Given the description of an element on the screen output the (x, y) to click on. 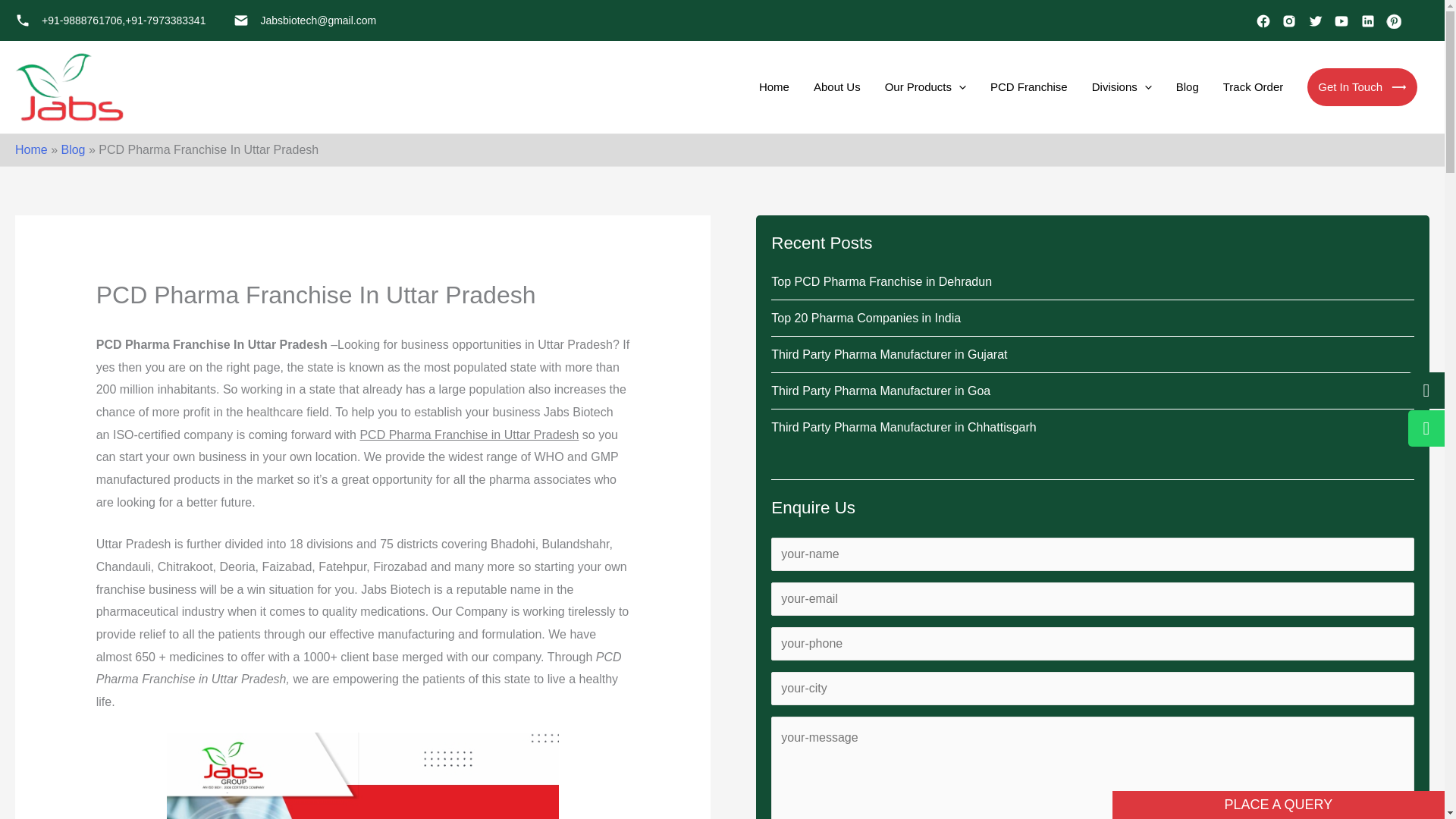
Our Products (925, 86)
Divisions (1121, 86)
Track Order (1252, 86)
PCD Franchise (1028, 86)
Get In Touch (1361, 86)
About Us (836, 86)
